Given the description of an element on the screen output the (x, y) to click on. 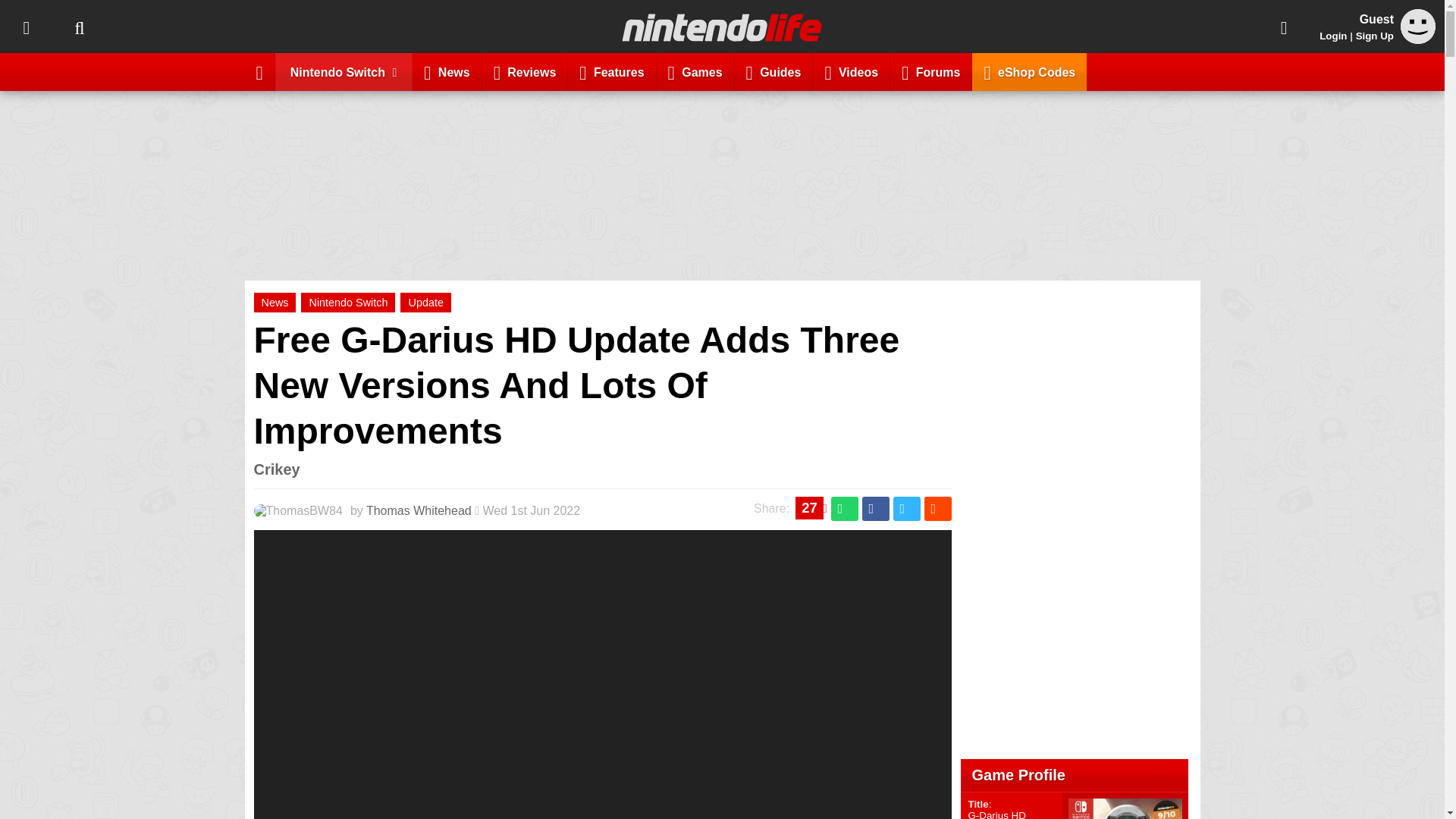
Share this on WhatsApp (845, 508)
Reviews (525, 71)
News (274, 302)
Search (79, 26)
Nintendo Switch (344, 71)
Sign Up (1374, 35)
Share This Page (1283, 26)
Guides (774, 71)
Games (695, 71)
